Given the description of an element on the screen output the (x, y) to click on. 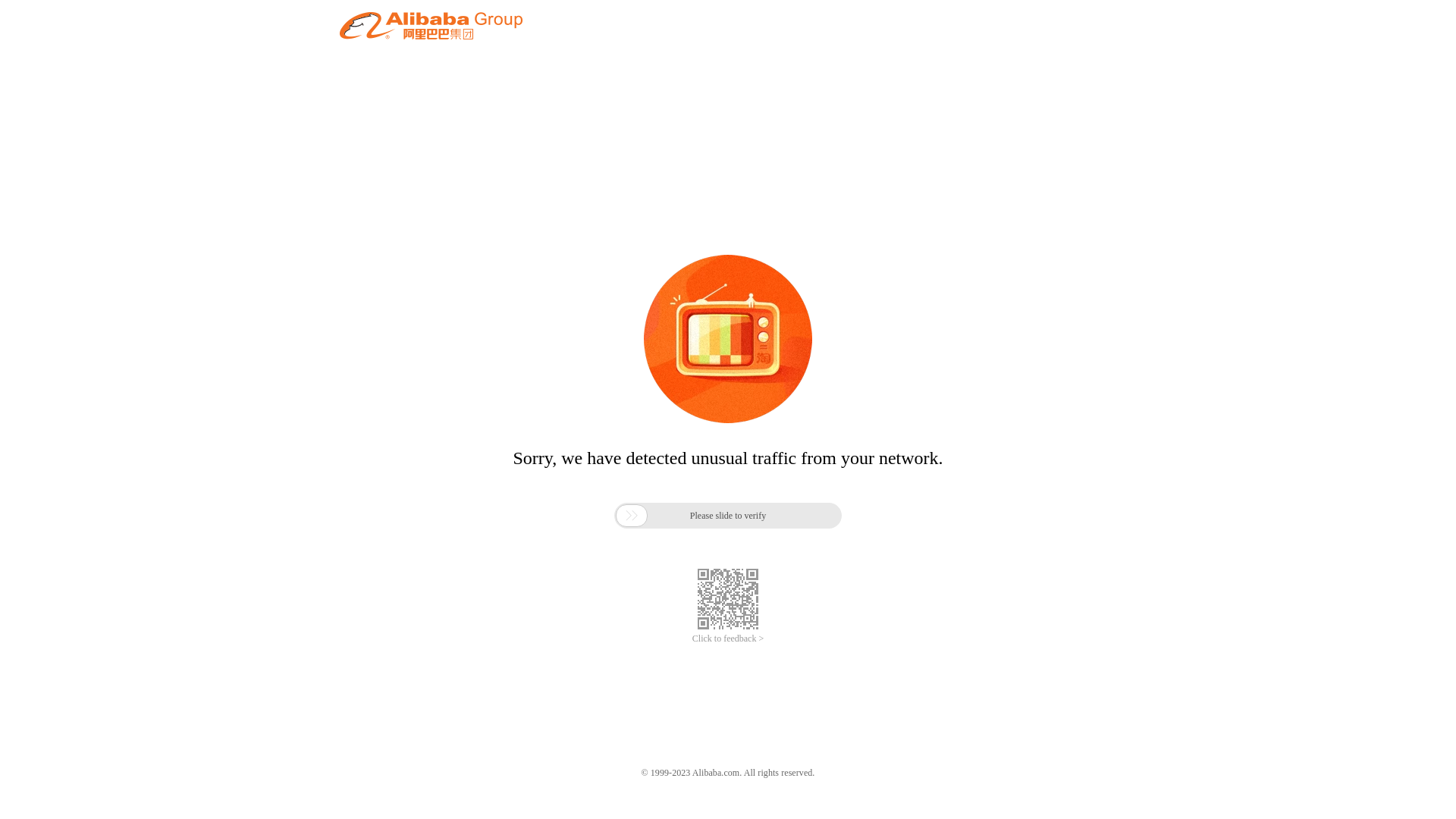
Click to feedback > Element type: text (727, 638)
